Given the description of an element on the screen output the (x, y) to click on. 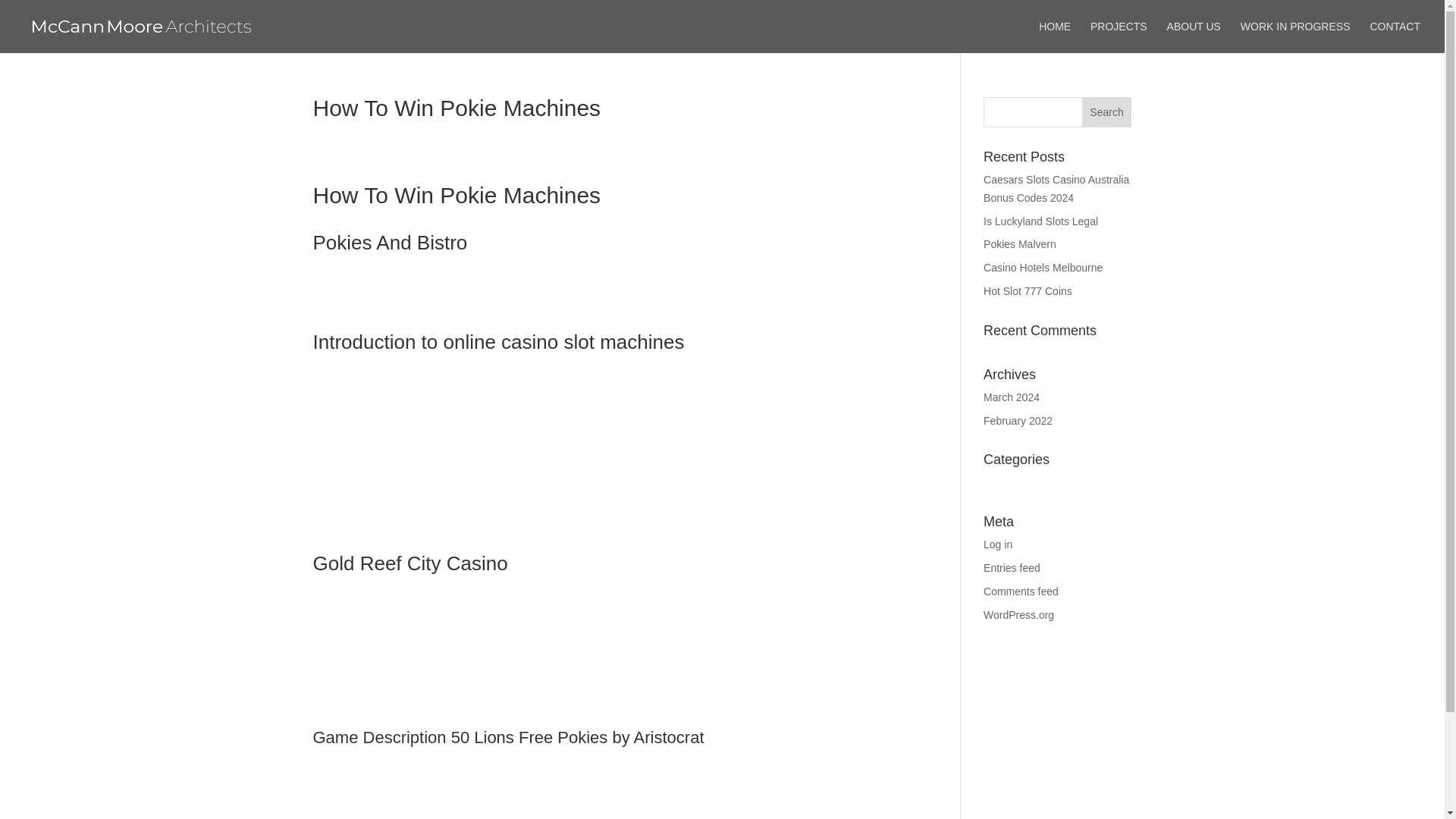
ABOUT US (1194, 37)
March 2024 (1011, 397)
Entries feed (1012, 567)
PROJECTS (1118, 37)
HOME (1054, 37)
CONTACT (1395, 37)
Hot Slot 777 Coins (1027, 291)
Comments feed (1021, 591)
Casino Hotels Melbourne (1043, 267)
Caesars Slots Casino Australia Bonus Codes 2024 (1056, 188)
